Given the description of an element on the screen output the (x, y) to click on. 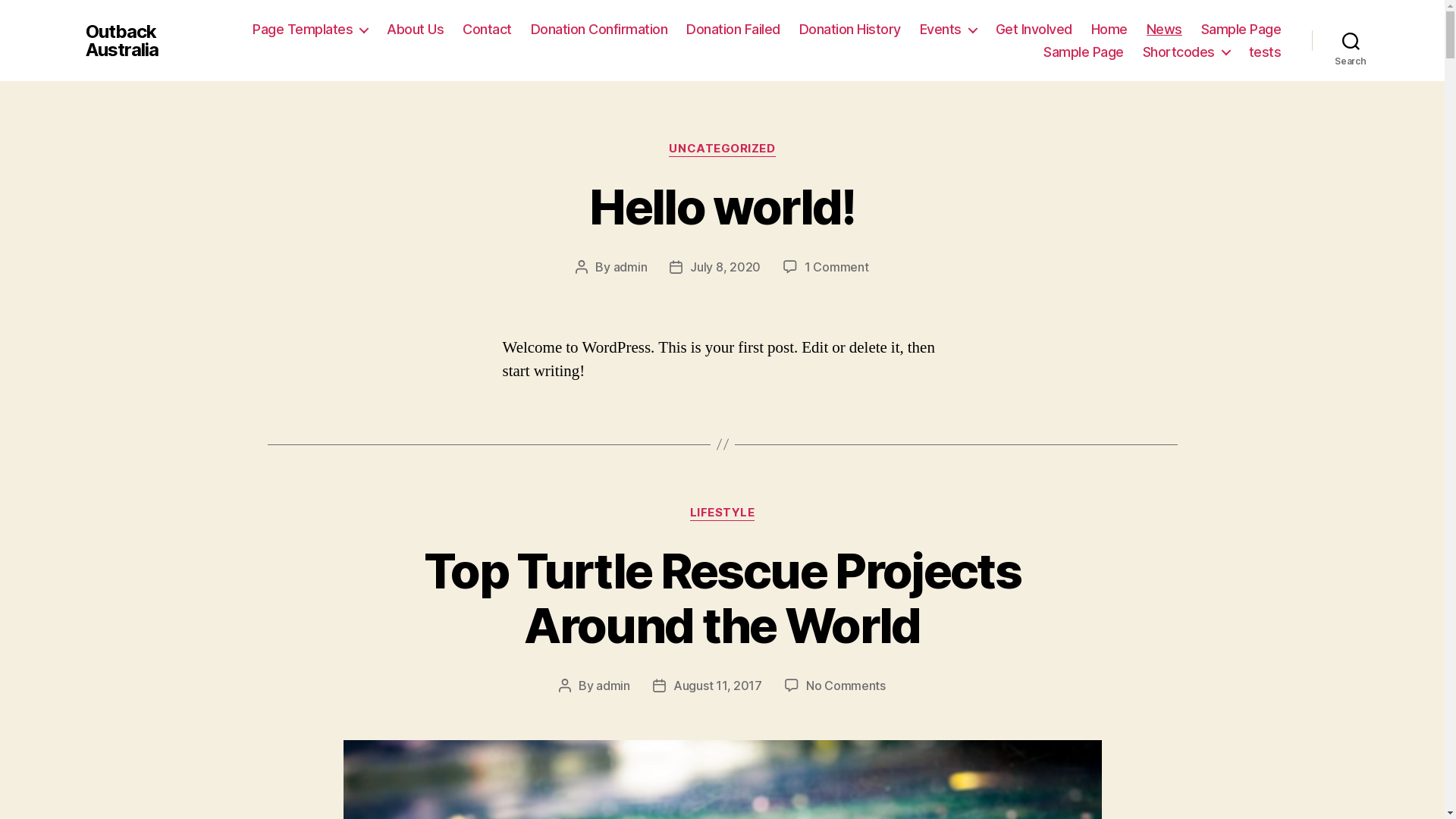
Top Turtle Rescue Projects Around the World Element type: text (721, 598)
Search Element type: text (1350, 40)
Page Templates Element type: text (309, 29)
Get Involved Element type: text (1033, 29)
Sample Page Element type: text (1241, 29)
Home Element type: text (1109, 29)
tests Element type: text (1264, 51)
Donation Confirmation Element type: text (599, 29)
Shortcodes Element type: text (1186, 51)
Contact Element type: text (486, 29)
Hello world! Element type: text (721, 206)
LIFESTYLE Element type: text (722, 512)
No Comments
on Top Turtle Rescue Projects Around the World Element type: text (845, 685)
admin Element type: text (613, 685)
Donation Failed Element type: text (733, 29)
July 8, 2020 Element type: text (725, 266)
Sample Page Element type: text (1083, 51)
About Us Element type: text (414, 29)
Events Element type: text (947, 29)
UNCATEGORIZED Element type: text (721, 148)
admin Element type: text (630, 266)
Outback Australia Element type: text (145, 40)
News Element type: text (1164, 29)
1 Comment
on Hello world! Element type: text (836, 266)
Donation History Element type: text (849, 29)
August 11, 2017 Element type: text (717, 685)
